Given the description of an element on the screen output the (x, y) to click on. 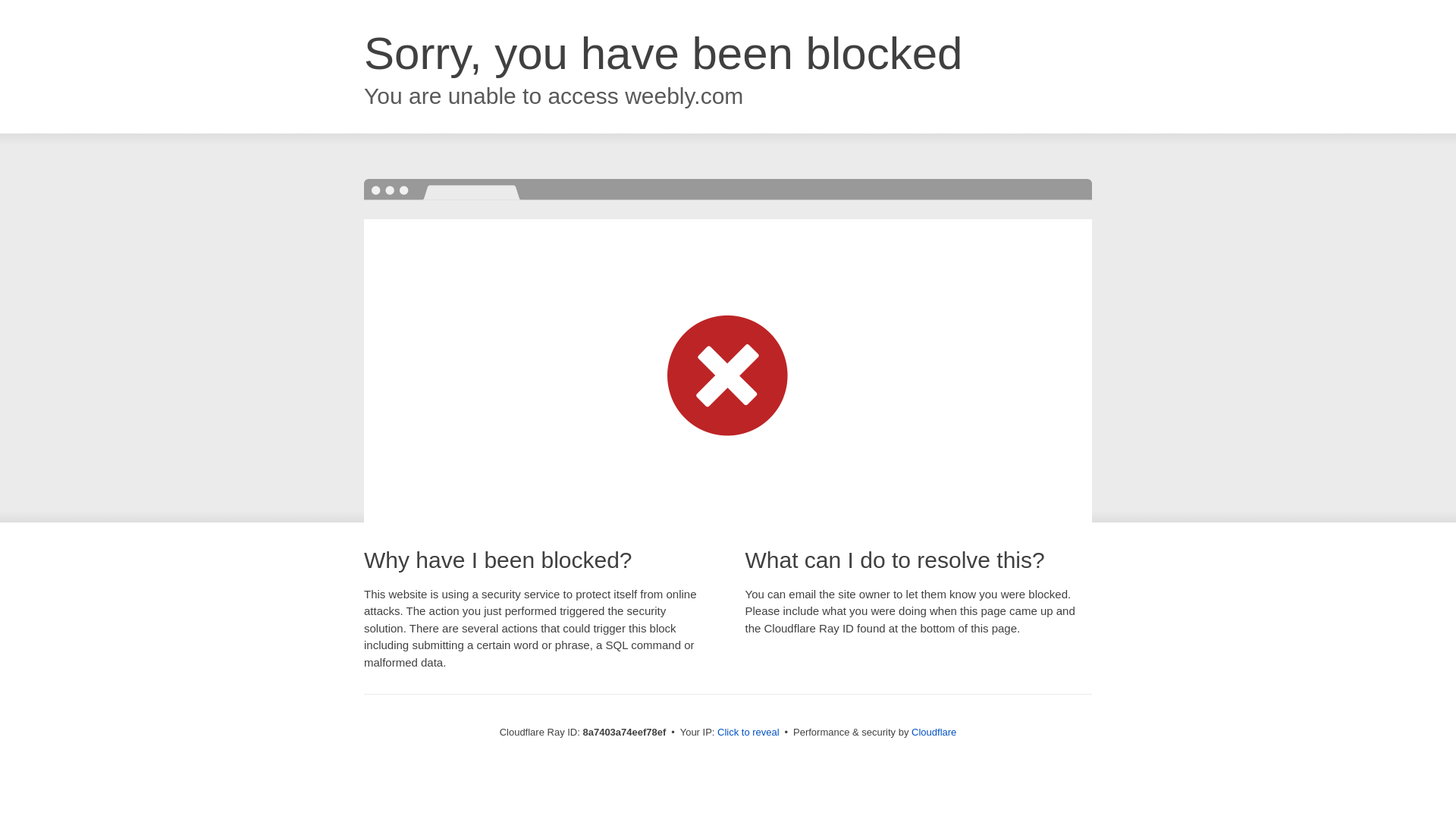
Click to reveal (747, 732)
Cloudflare (933, 731)
